Given the description of an element on the screen output the (x, y) to click on. 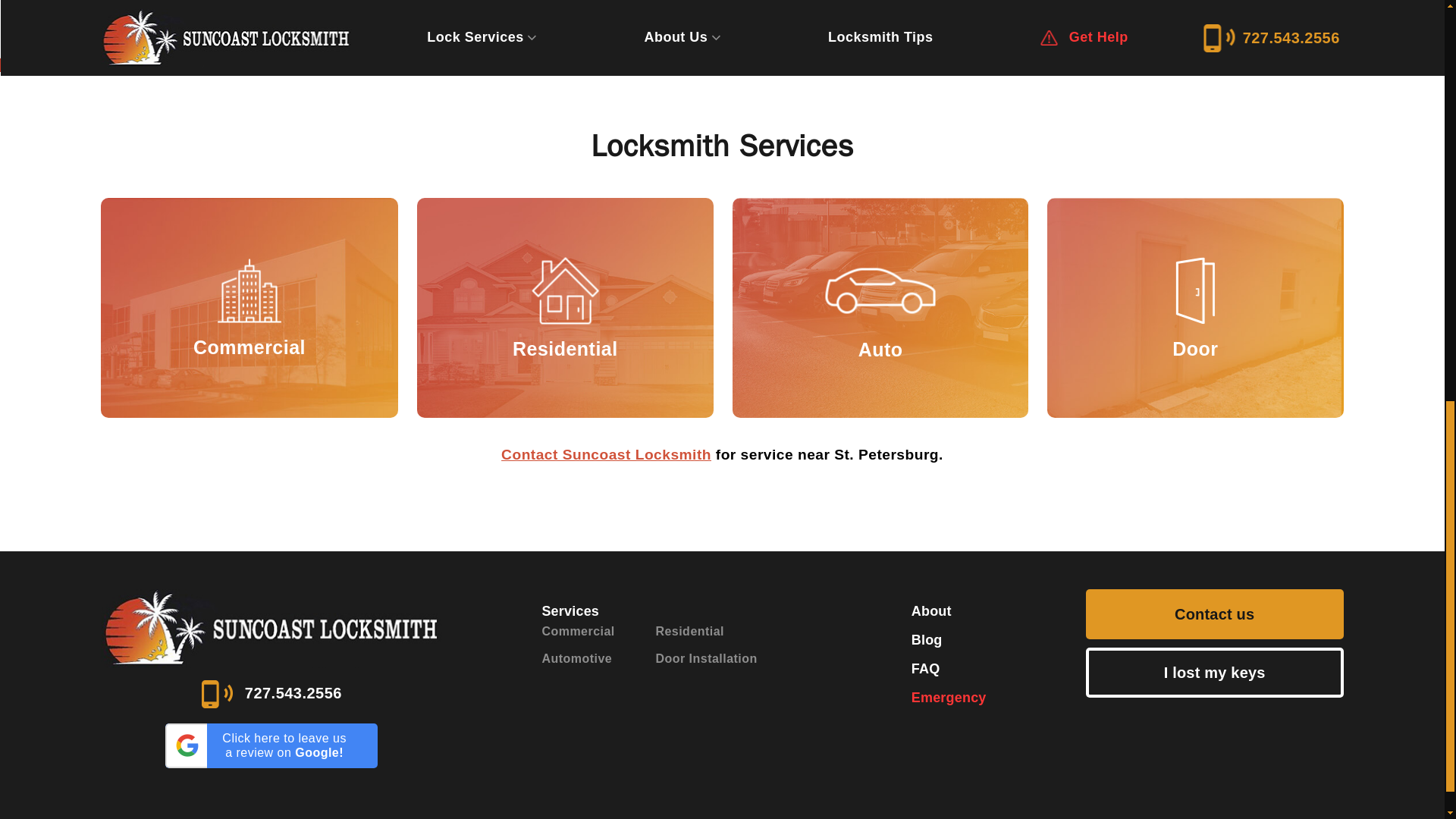
Get commercial locksmith service (248, 307)
Residential (564, 307)
Contact Suncoast Locksmith (605, 454)
Commercial locksmith service (248, 309)
Door (1194, 307)
Auto (879, 307)
Get residential locksmith service (564, 307)
Commercial (248, 307)
